Given the description of an element on the screen output the (x, y) to click on. 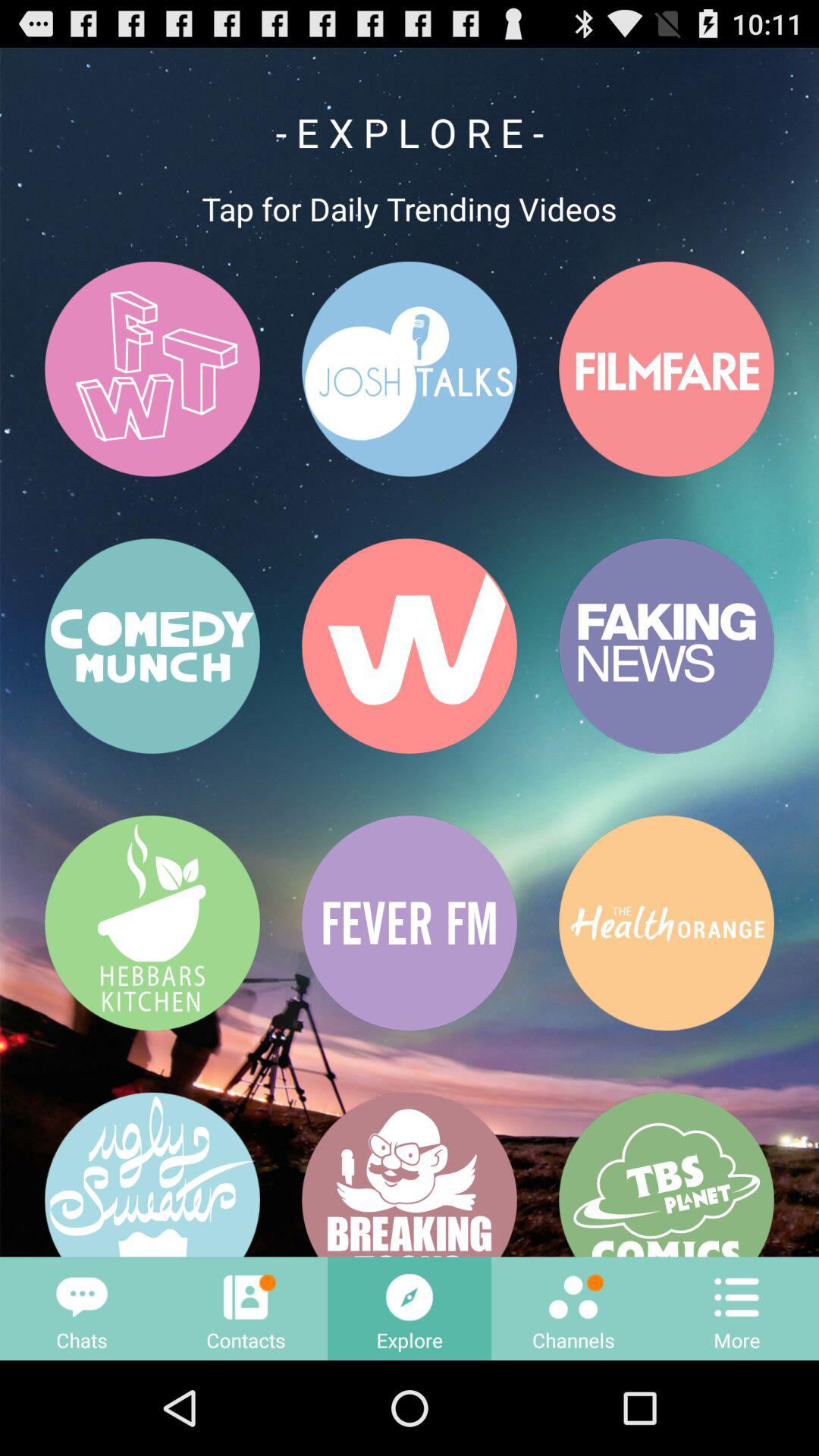
click the first circular shaped image on the left side of the web page (152, 369)
select the first circular shaped image on the right side of the web page (665, 369)
click on button above hebbars kitchen (152, 646)
click on the button under faking news (665, 922)
click on the button having a text faking news (665, 646)
click on the image having filmfare option (665, 369)
click on the button that having a text comedy munch (152, 646)
click on the button having a text tbs planet (665, 1175)
click on the button that having a text filmfare (665, 369)
click on the button that having a text fever fm (409, 922)
click on the button that having a text breaking (409, 1175)
click on the button that having a text fever fm (409, 922)
click on the button that having a text hebbars kitchen (152, 922)
